Given the description of an element on the screen output the (x, y) to click on. 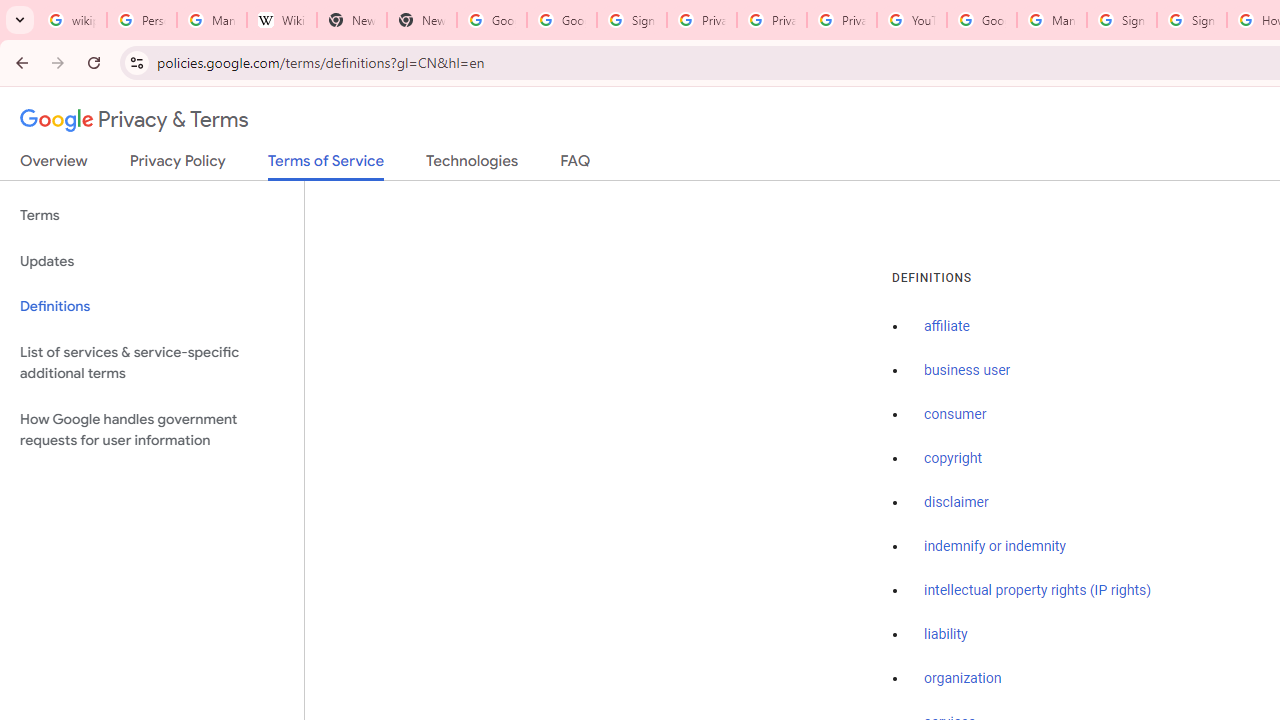
Personalization & Google Search results - Google Search Help (141, 20)
Manage your Location History - Google Search Help (211, 20)
Sign in - Google Accounts (1192, 20)
indemnify or indemnity (995, 546)
Google Drive: Sign-in (561, 20)
organization (963, 679)
